Given the description of an element on the screen output the (x, y) to click on. 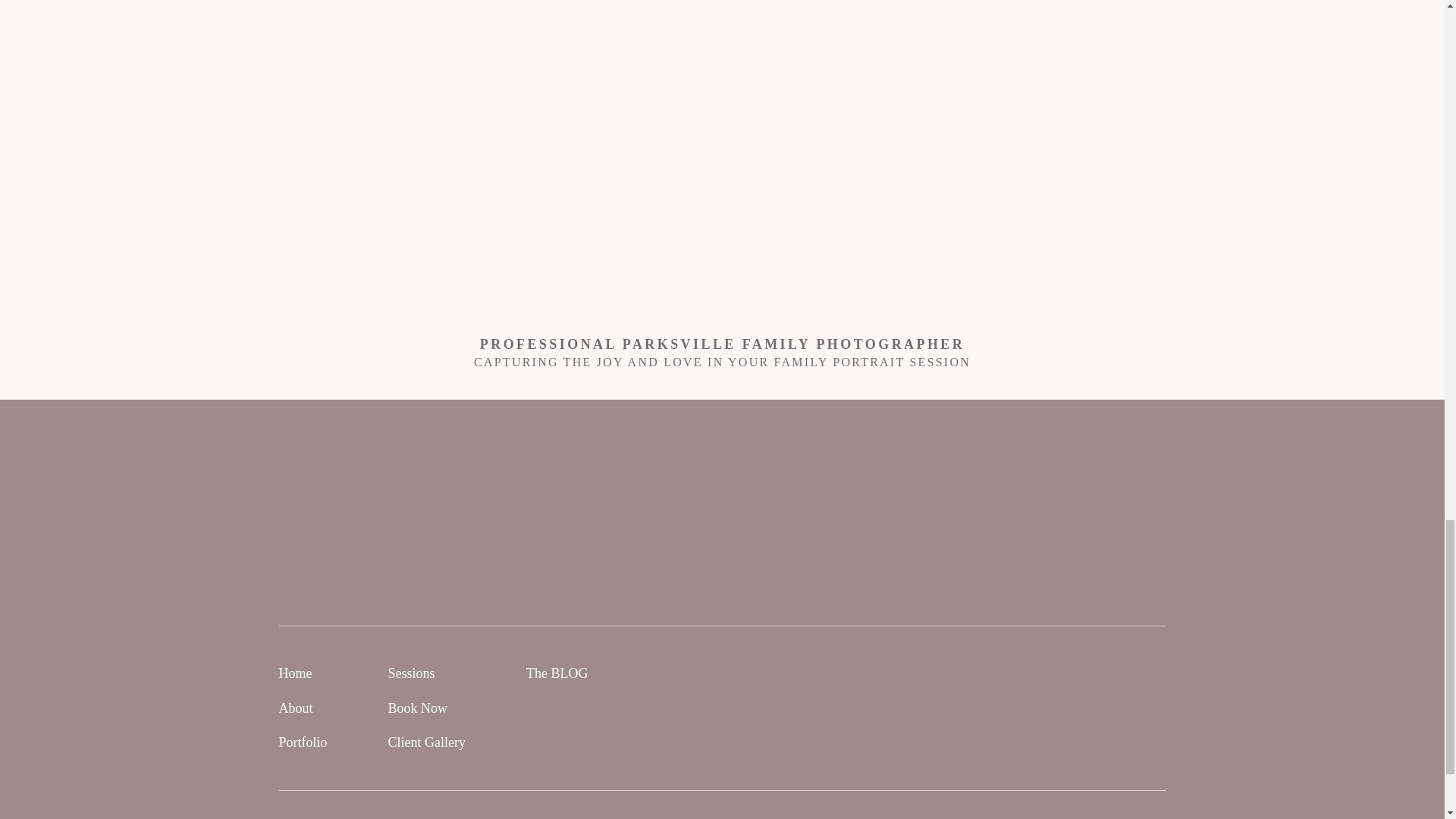
Sessions (411, 673)
Book Now (418, 708)
Home (296, 673)
Portfolio (303, 742)
About (296, 708)
